Given the description of an element on the screen output the (x, y) to click on. 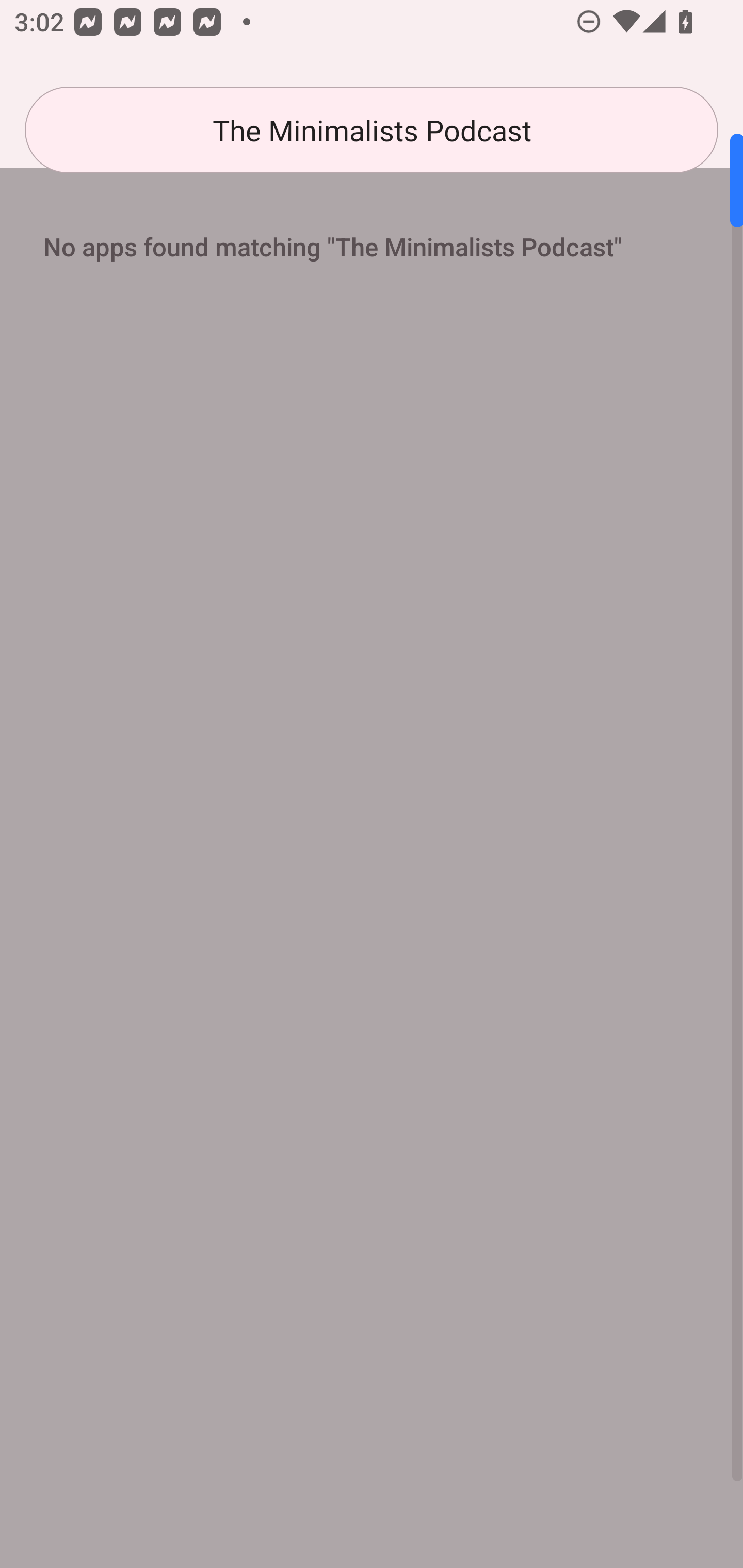
The Minimalists Podcast (371, 130)
